Given the description of an element on the screen output the (x, y) to click on. 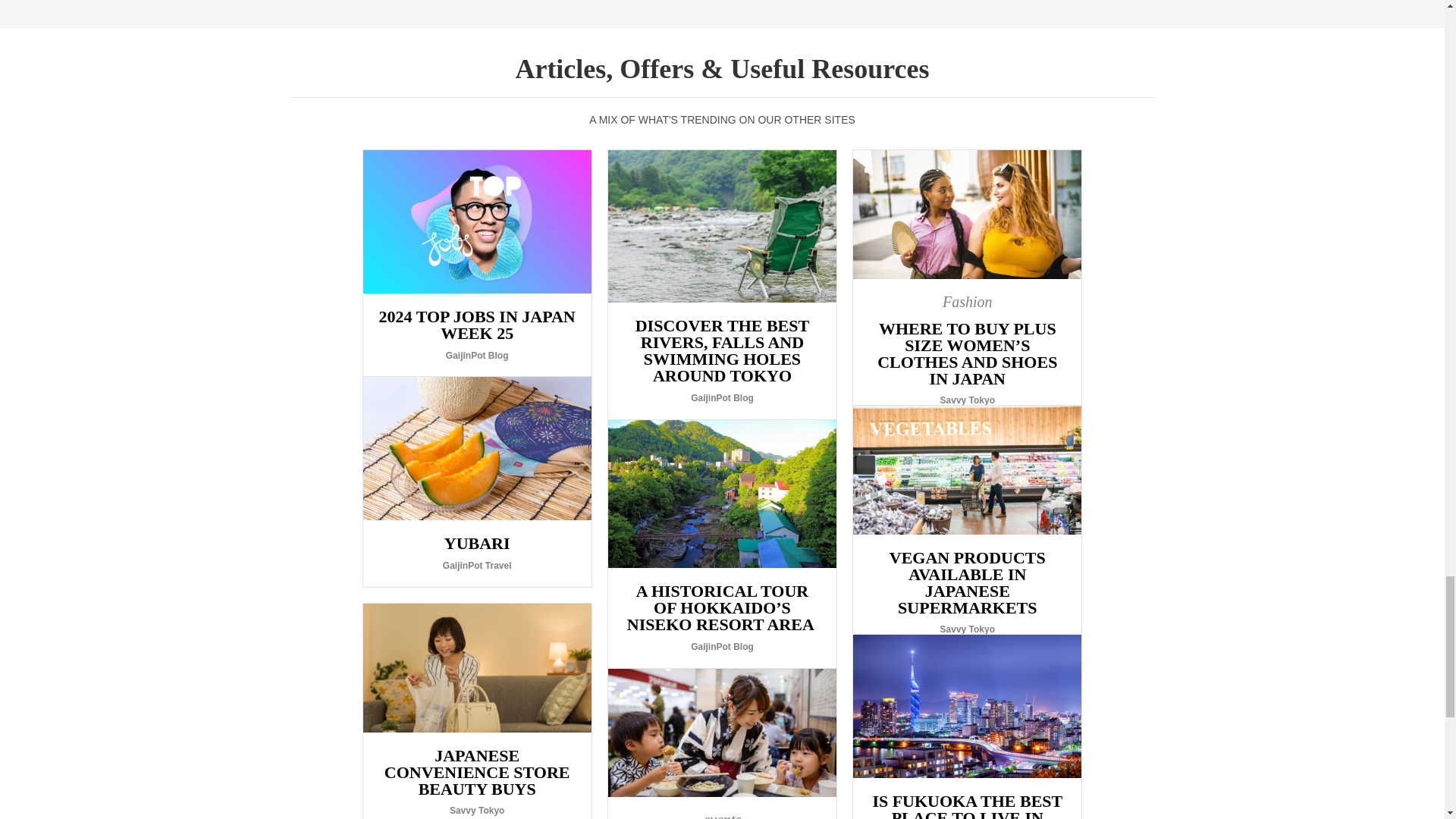
2024 Top Jobs in Japan Week 25 (476, 262)
